Given the description of an element on the screen output the (x, y) to click on. 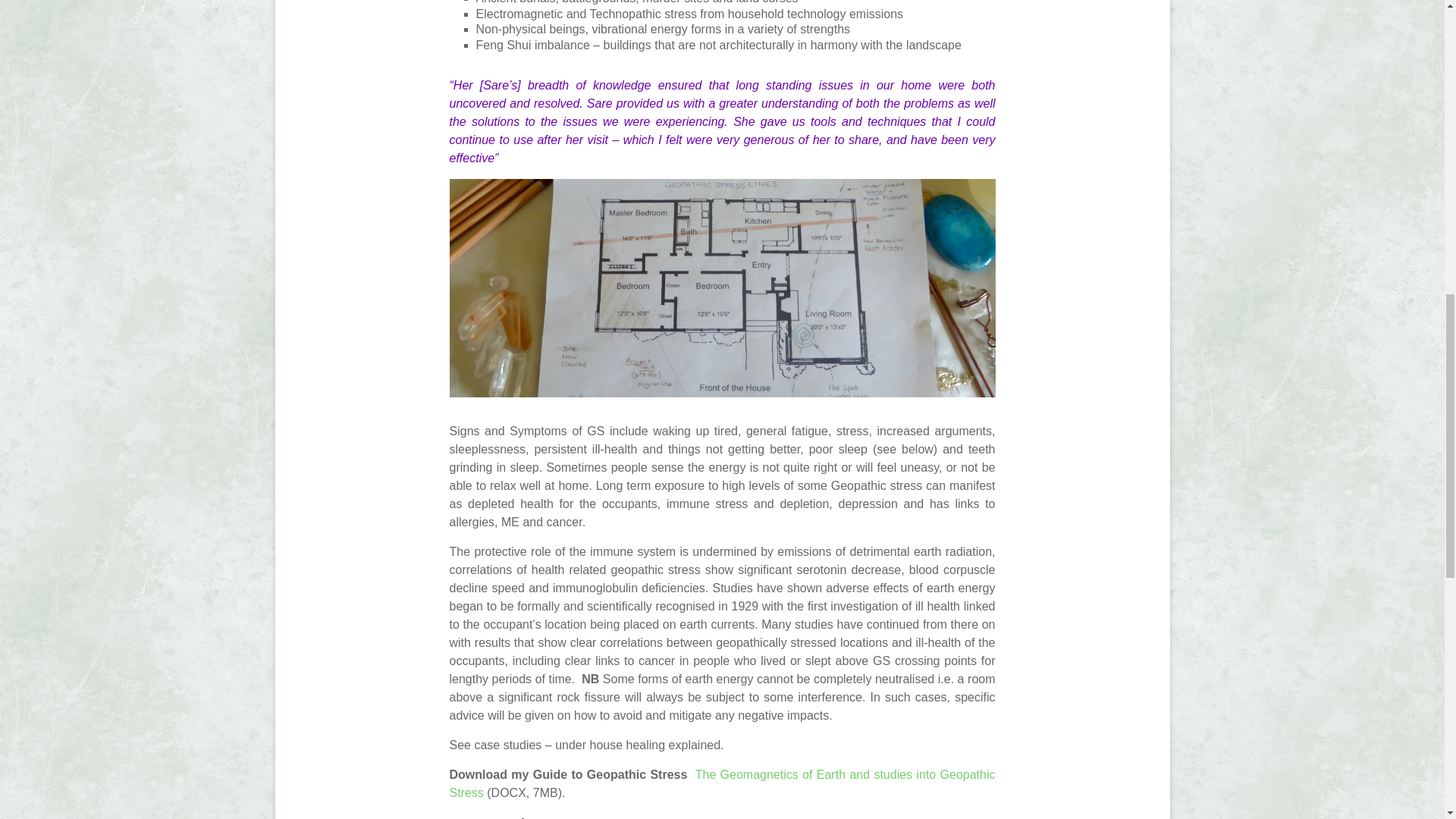
The Geomagnetics of Earth and studies into Geopathic Stress (721, 783)
